Given the description of an element on the screen output the (x, y) to click on. 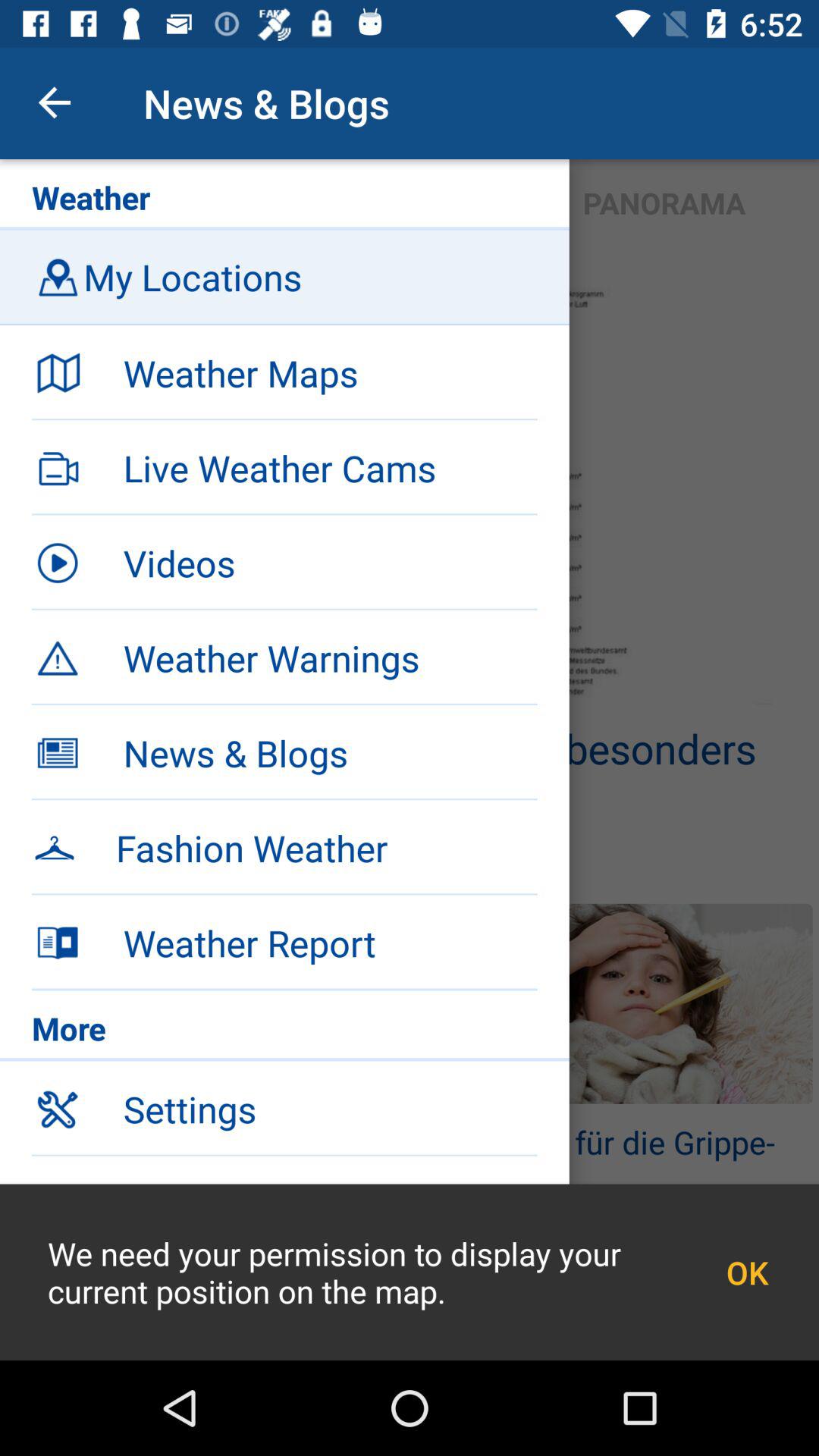
click on ok (747, 1272)
click on icon beside videos (57, 562)
